Given the description of an element on the screen output the (x, y) to click on. 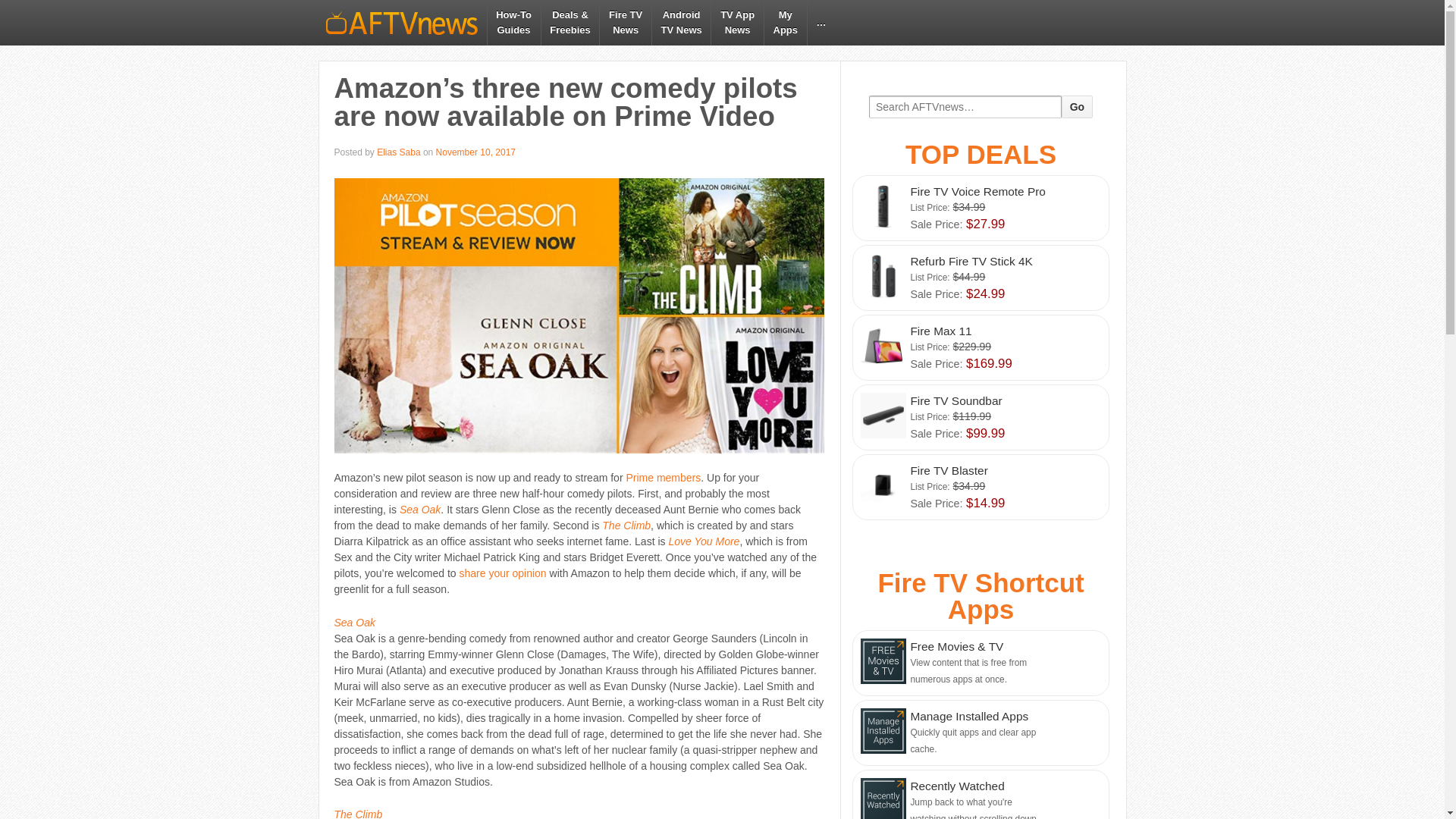
Sea Oak (513, 22)
Elias Saba (419, 509)
share your opinion (398, 152)
Refurb Fire TV Stick 4K (502, 573)
Prime members (979, 277)
About Elias Saba (663, 477)
Fire TV Voice Remote Pro (398, 152)
The Climb (979, 207)
Go (357, 813)
